Given the description of an element on the screen output the (x, y) to click on. 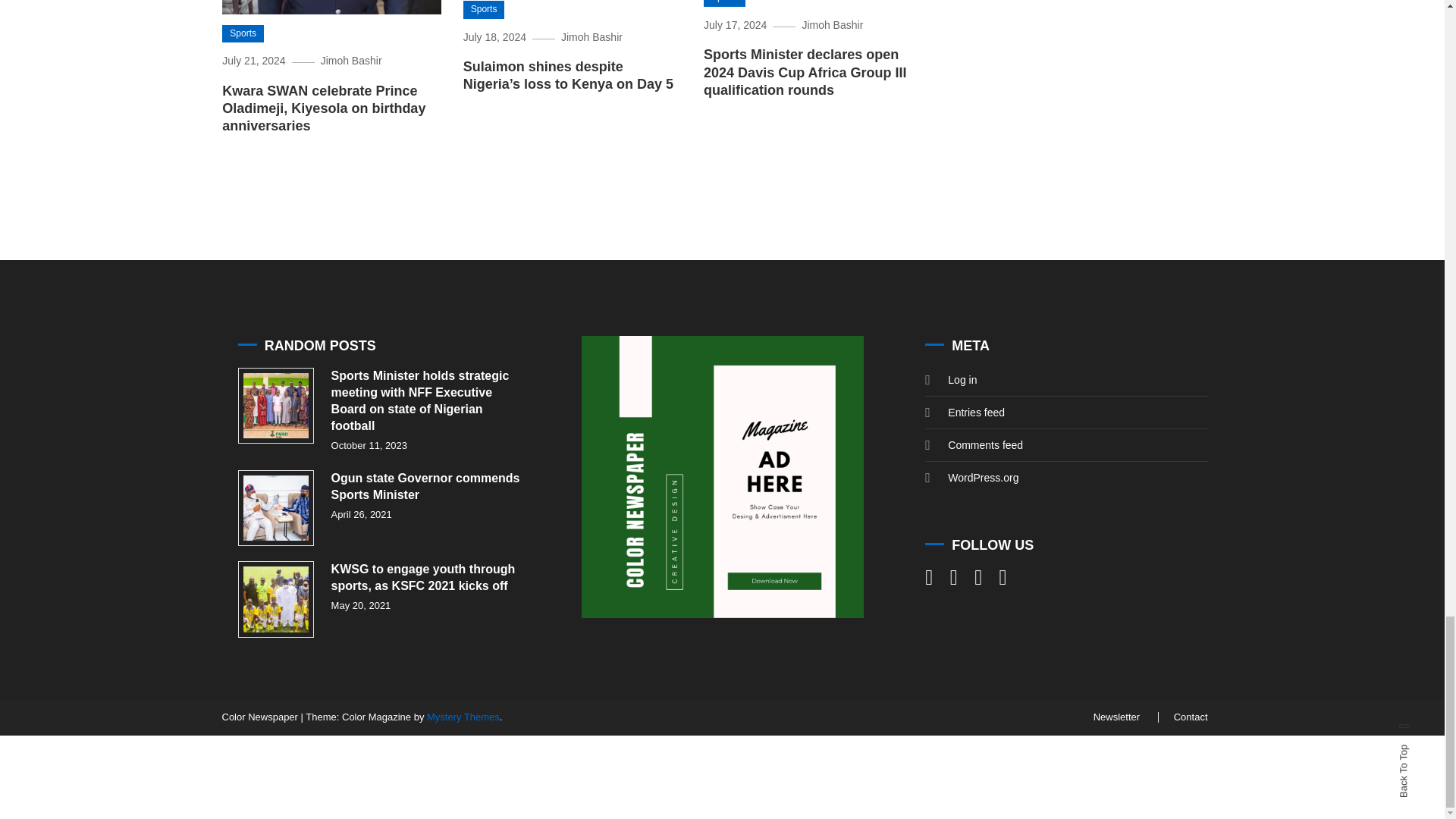
KWSG to engage youth through sports, as KSFC 2021 kicks off (276, 599)
Ogun state Governor commends Sports Minister (276, 508)
